Given the description of an element on the screen output the (x, y) to click on. 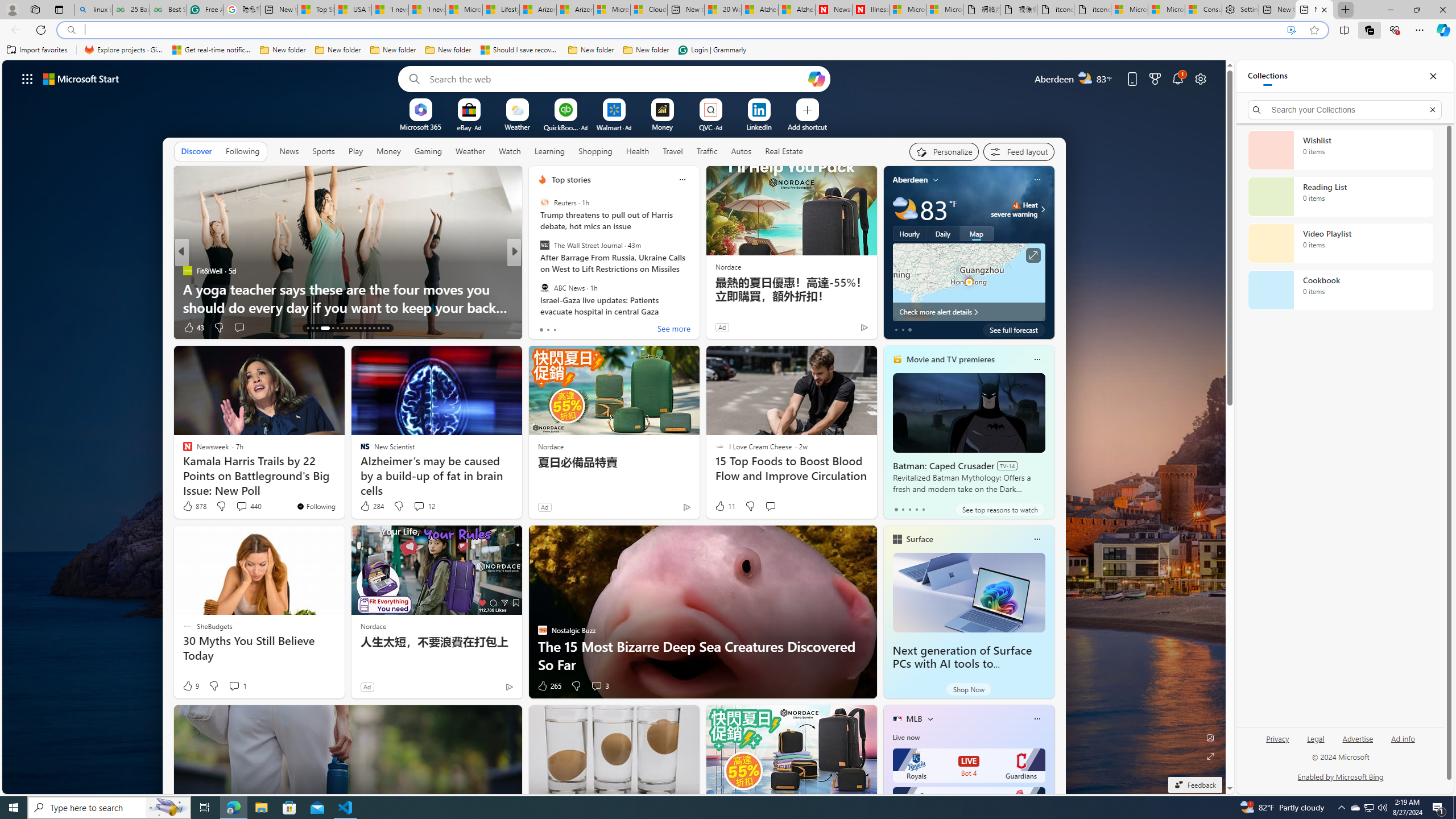
AutomationID: waffle (27, 78)
Search icon (70, 29)
See top reasons to watch (999, 509)
Illness news & latest pictures from Newsweek.com (870, 9)
Fit&Well (187, 270)
Free AI Writing Assistance for Students | Grammarly (205, 9)
BGR (537, 270)
